Given the description of an element on the screen output the (x, y) to click on. 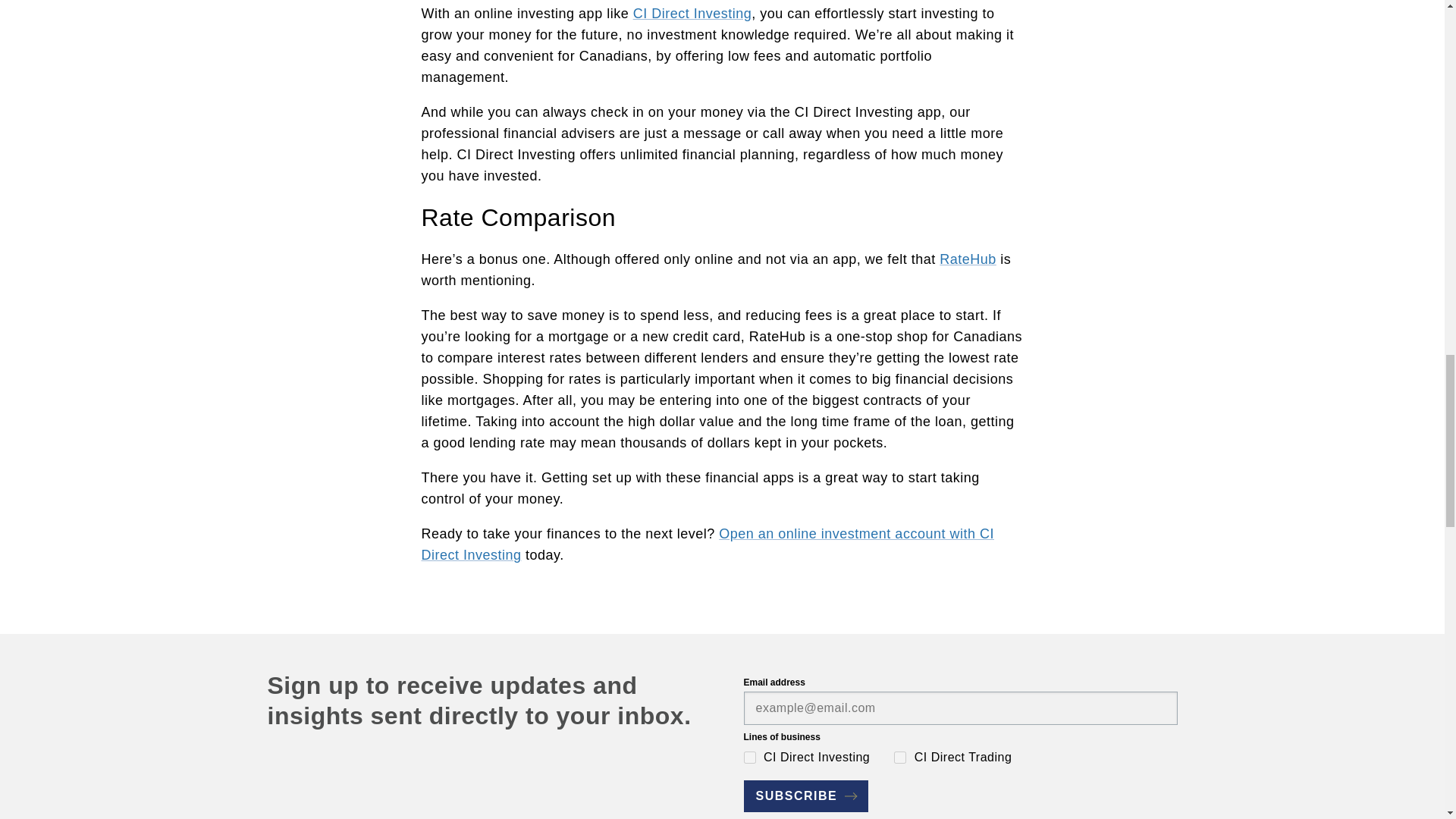
RateHub (967, 258)
2 (899, 757)
1 (748, 757)
Open an online investment account with CI Direct Investing (708, 544)
SUBSCRIBE (804, 796)
CI Direct Investing (692, 13)
